Given the description of an element on the screen output the (x, y) to click on. 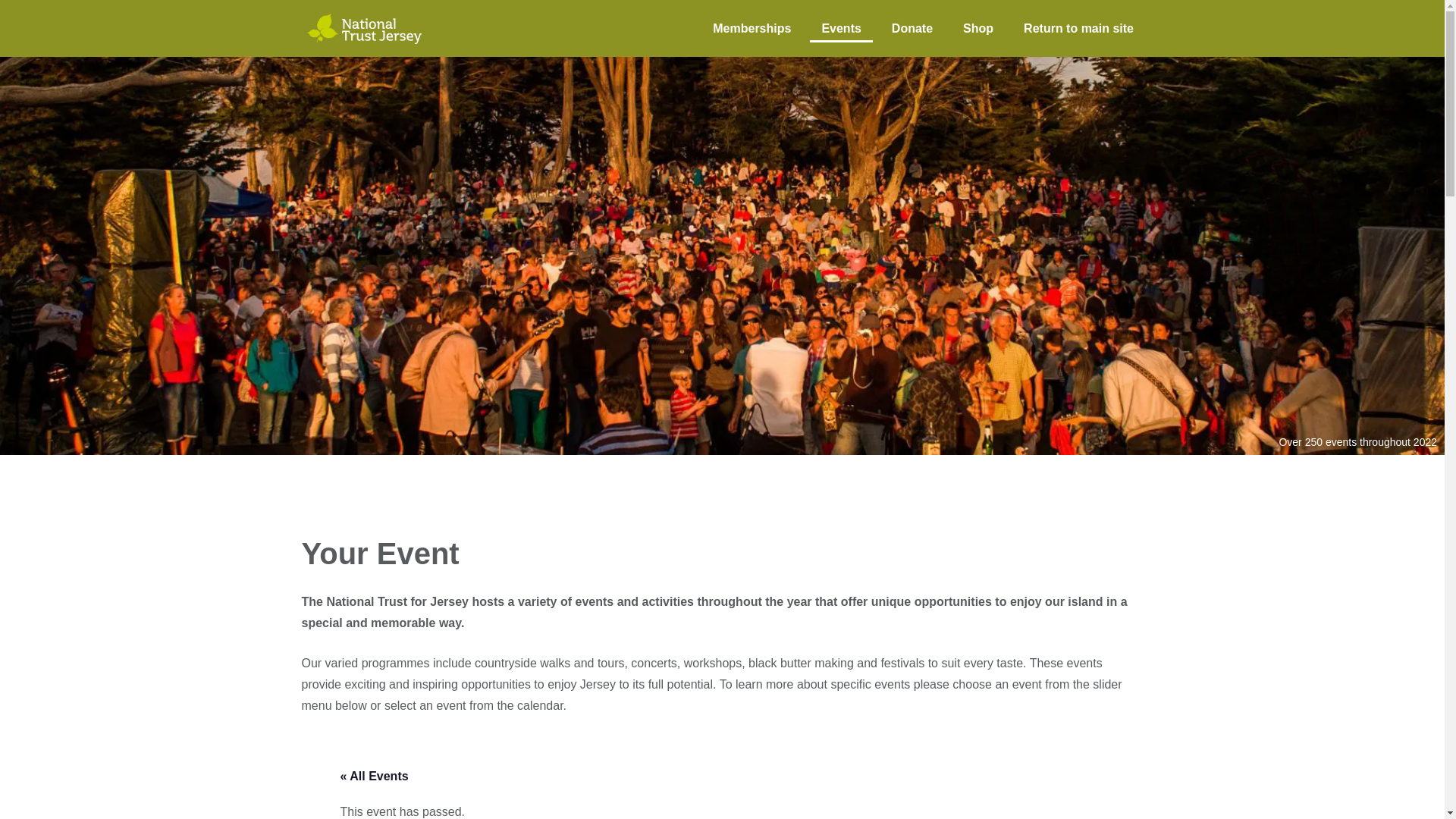
Donate (911, 27)
Return to main site (1077, 27)
Memberships (751, 27)
Shop (978, 27)
Events (840, 27)
